Given the description of an element on the screen output the (x, y) to click on. 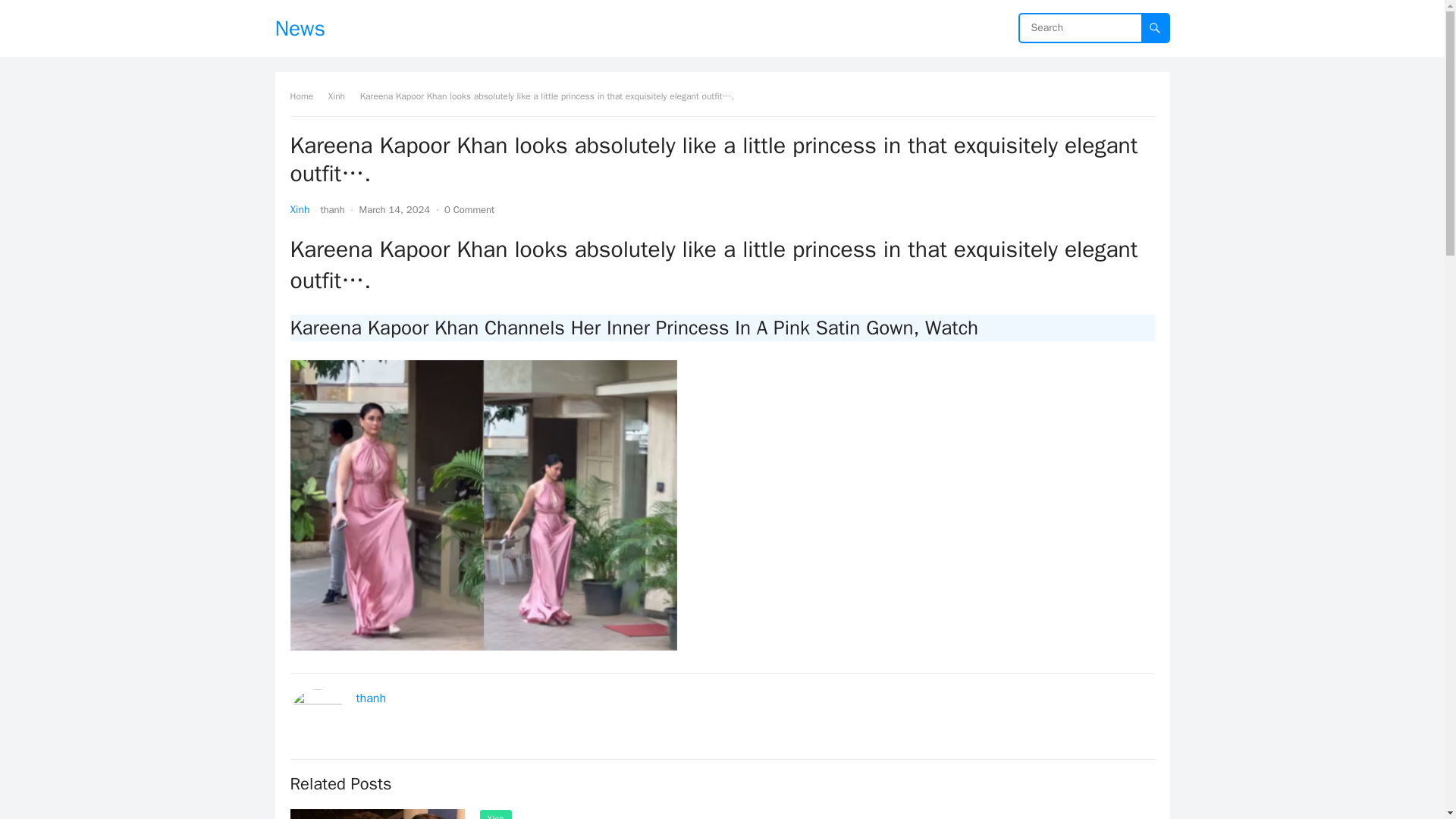
Posts by thanh (331, 209)
0 Comment (469, 209)
thanh (371, 698)
thanh (331, 209)
Xinh (495, 814)
News (299, 28)
Xinh (342, 96)
Home (306, 96)
Xinh (298, 209)
